Given the description of an element on the screen output the (x, y) to click on. 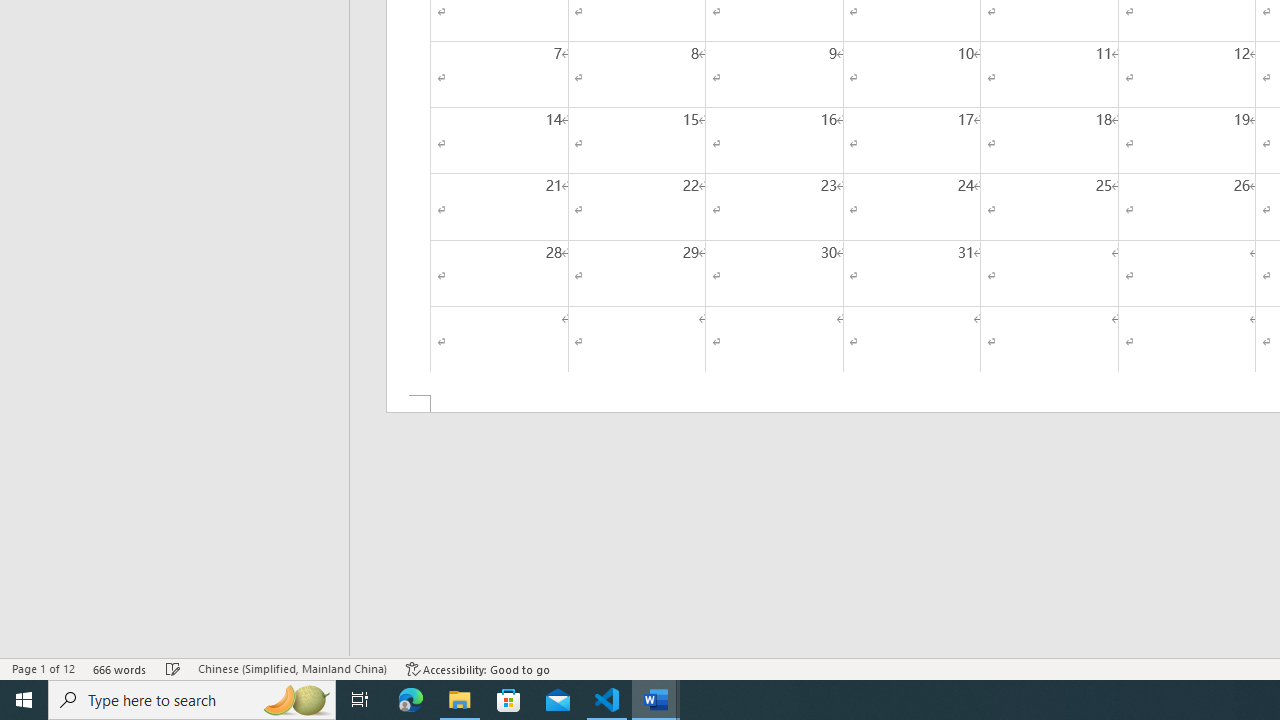
Spelling and Grammar Check Checking (173, 668)
Page Number Page 1 of 12 (43, 668)
Word Count 666 words (119, 668)
